Given the description of an element on the screen output the (x, y) to click on. 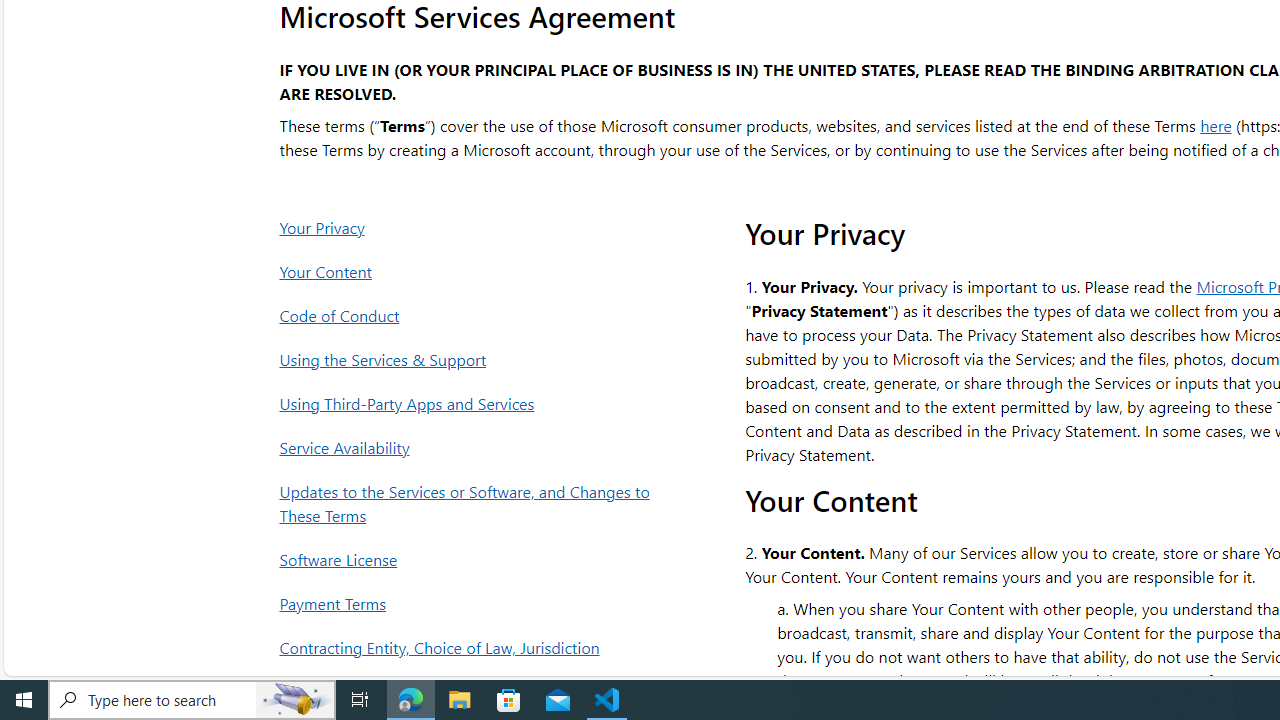
Service Availability (470, 447)
Software License (470, 559)
Code of Conduct (470, 315)
Using Third-Party Apps and Services (470, 403)
Contracting Entity, Choice of Law, Jurisdiction (470, 647)
Your Privacy (470, 227)
here (1215, 124)
Payment Terms (470, 603)
Using the Services & Support (470, 359)
Your Content (470, 271)
